Given the description of an element on the screen output the (x, y) to click on. 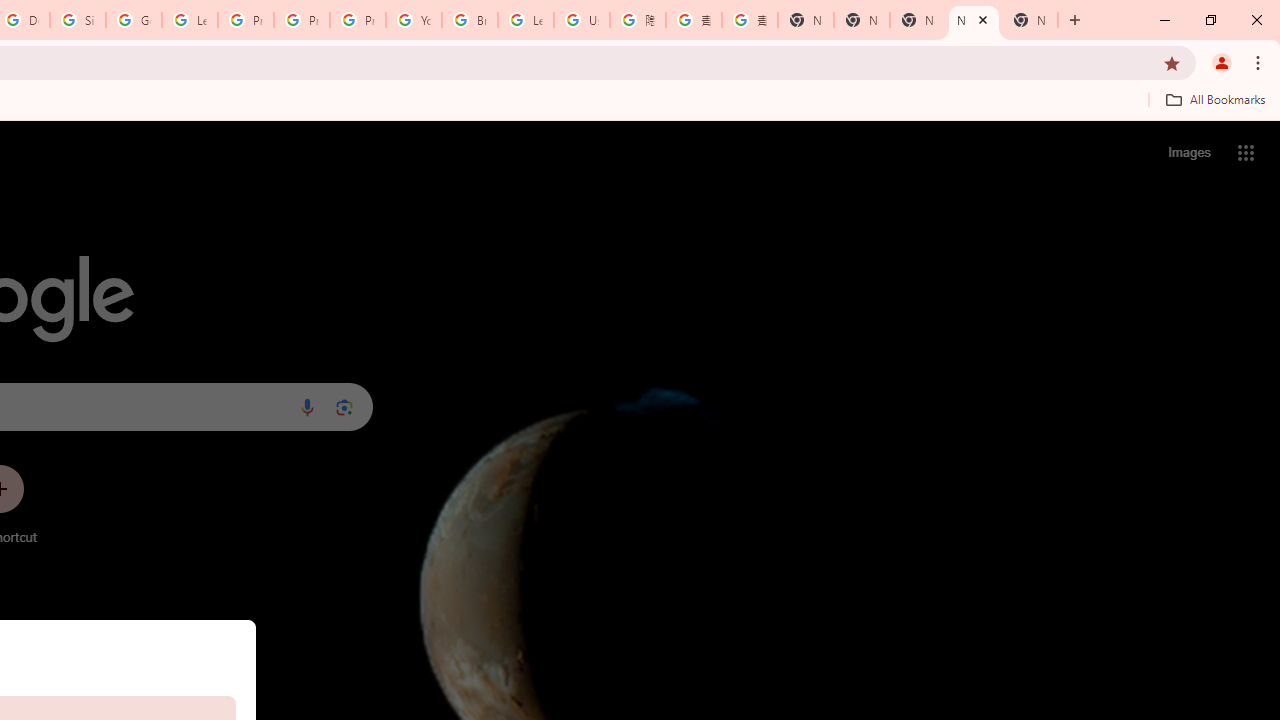
Privacy Help Center - Policies Help (245, 20)
YouTube (413, 20)
